Given the description of an element on the screen output the (x, y) to click on. 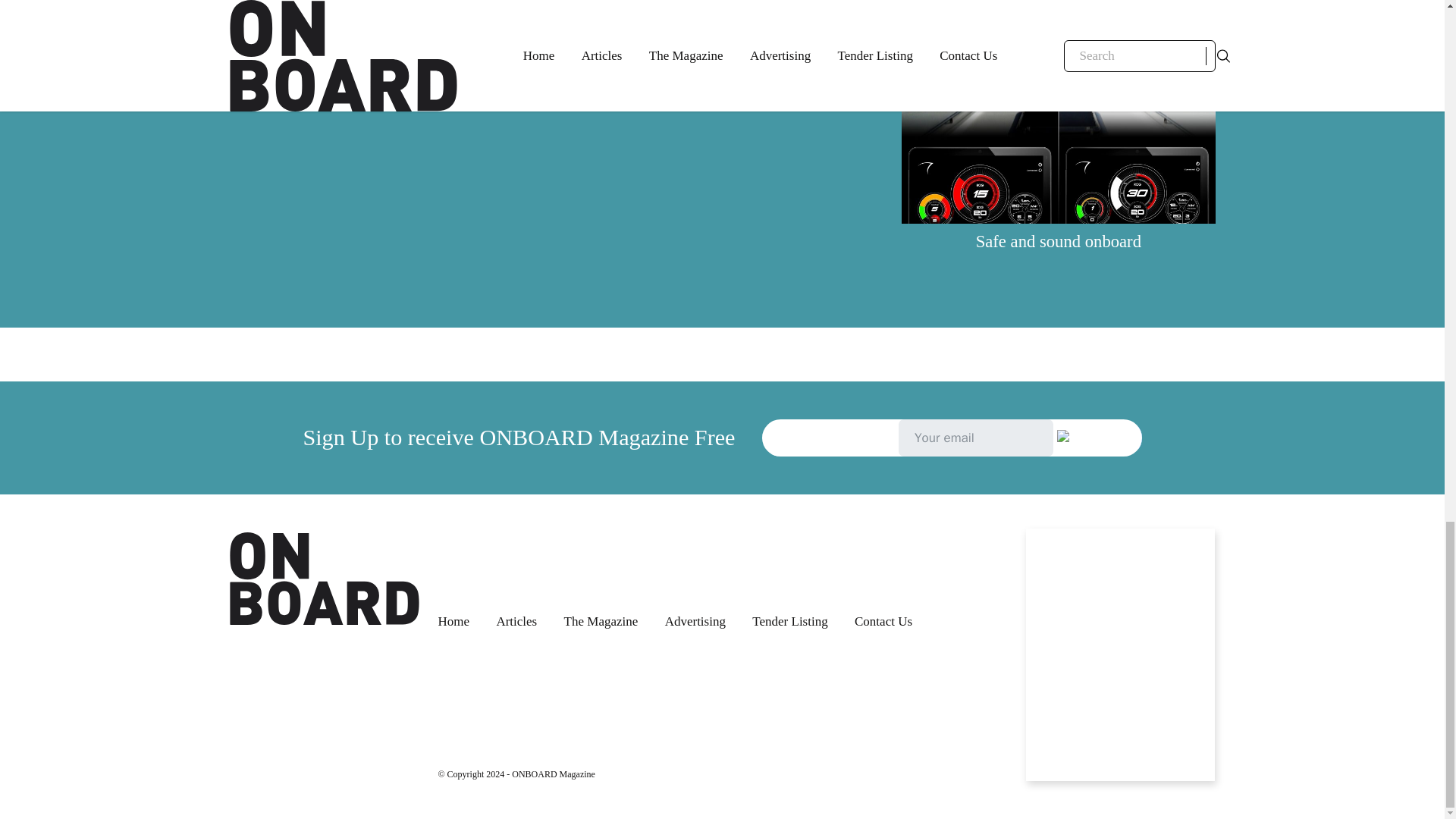
The Magazine (601, 621)
Articles (516, 621)
Advertising (695, 621)
Tender Listing (789, 621)
Porto Montenegro Residences (385, 7)
Contact Us (883, 621)
Home (454, 621)
Safe and sound onboard (1058, 240)
